Given the description of an element on the screen output the (x, y) to click on. 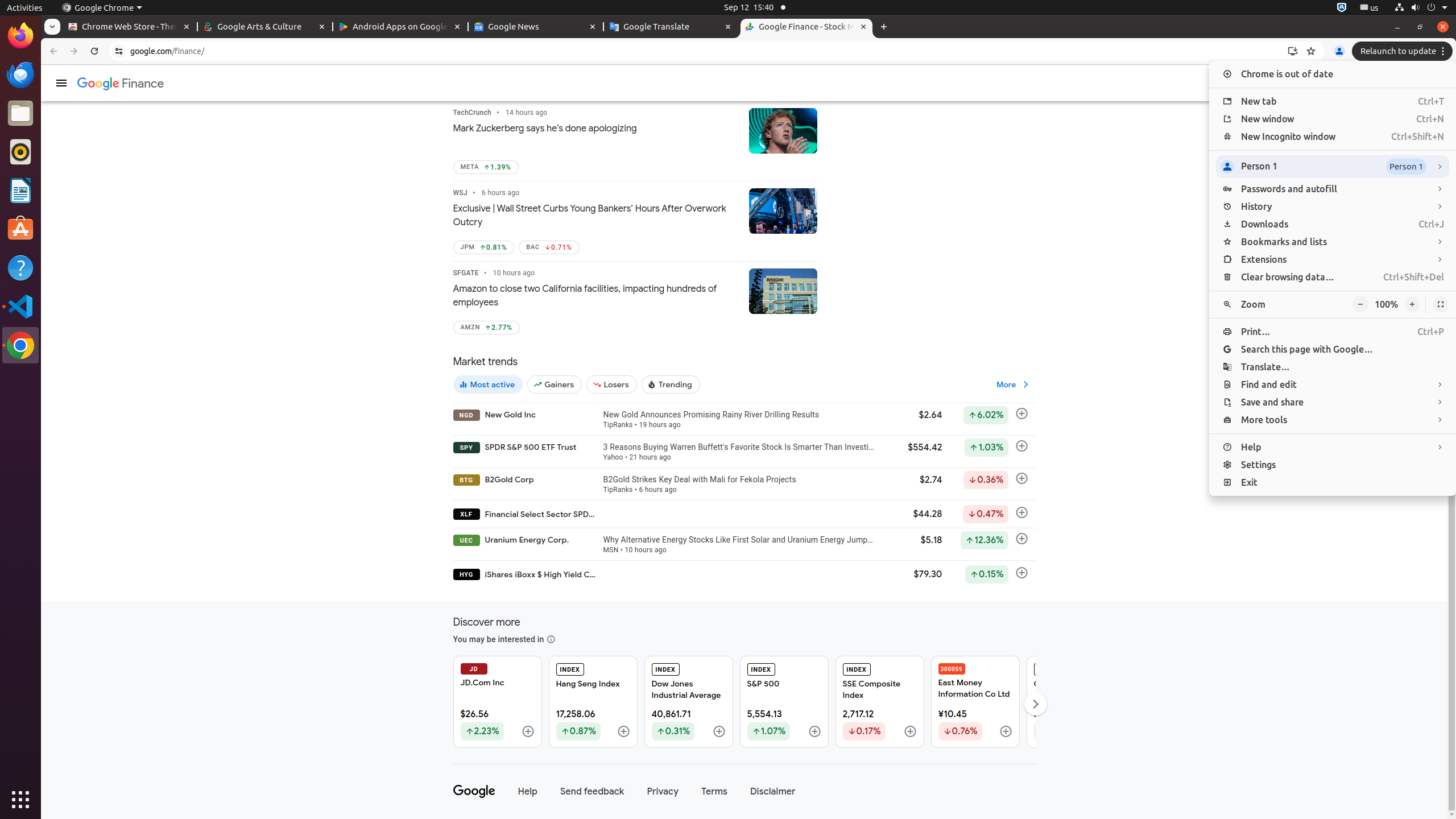
Downloads Ctrl+J Element type: menu-item (1332, 224)
Clear browsing data… Ctrl+Shift+Del Element type: menu-item (1332, 277)
Files Element type: push-button (20, 113)
Google Chrome Element type: menu (101, 7)
Zoom Element type: menu-item (1332, 304)
